Given the description of an element on the screen output the (x, y) to click on. 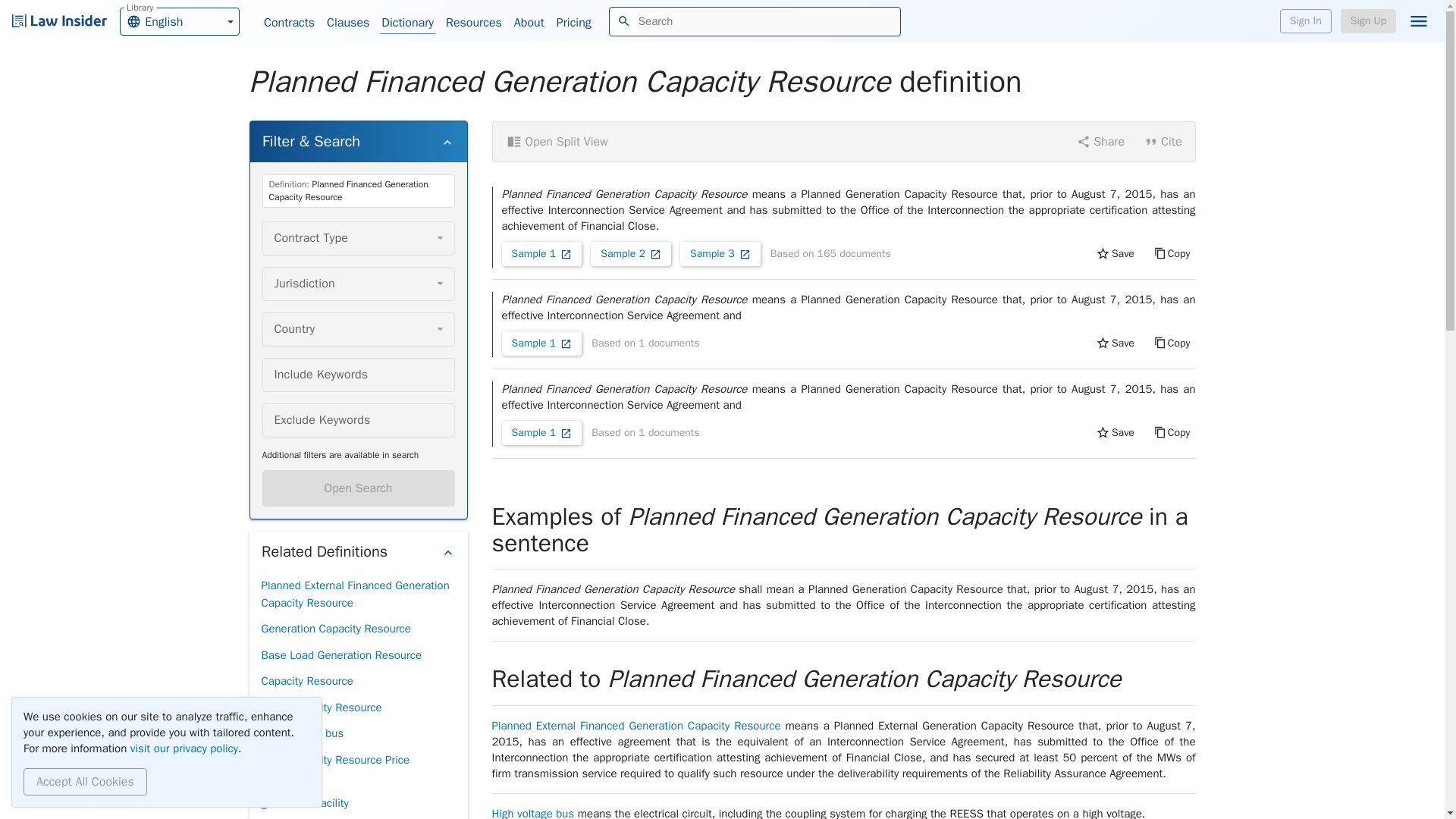
Capacity Resource (306, 681)
Cogeneration facility (310, 817)
Resources (473, 23)
About (529, 23)
Generation Capacity Resource (335, 628)
visit our privacy policy (184, 748)
Open Search (358, 488)
Planned External Financed Generation Capacity Resource (357, 593)
Pricing (573, 23)
Sign Up (1368, 21)
Base Capacity Resource Price Decrement (179, 20)
Base Capacity Resource (357, 768)
Accept All Cookies (320, 707)
High voltage bus (85, 781)
